Given the description of an element on the screen output the (x, y) to click on. 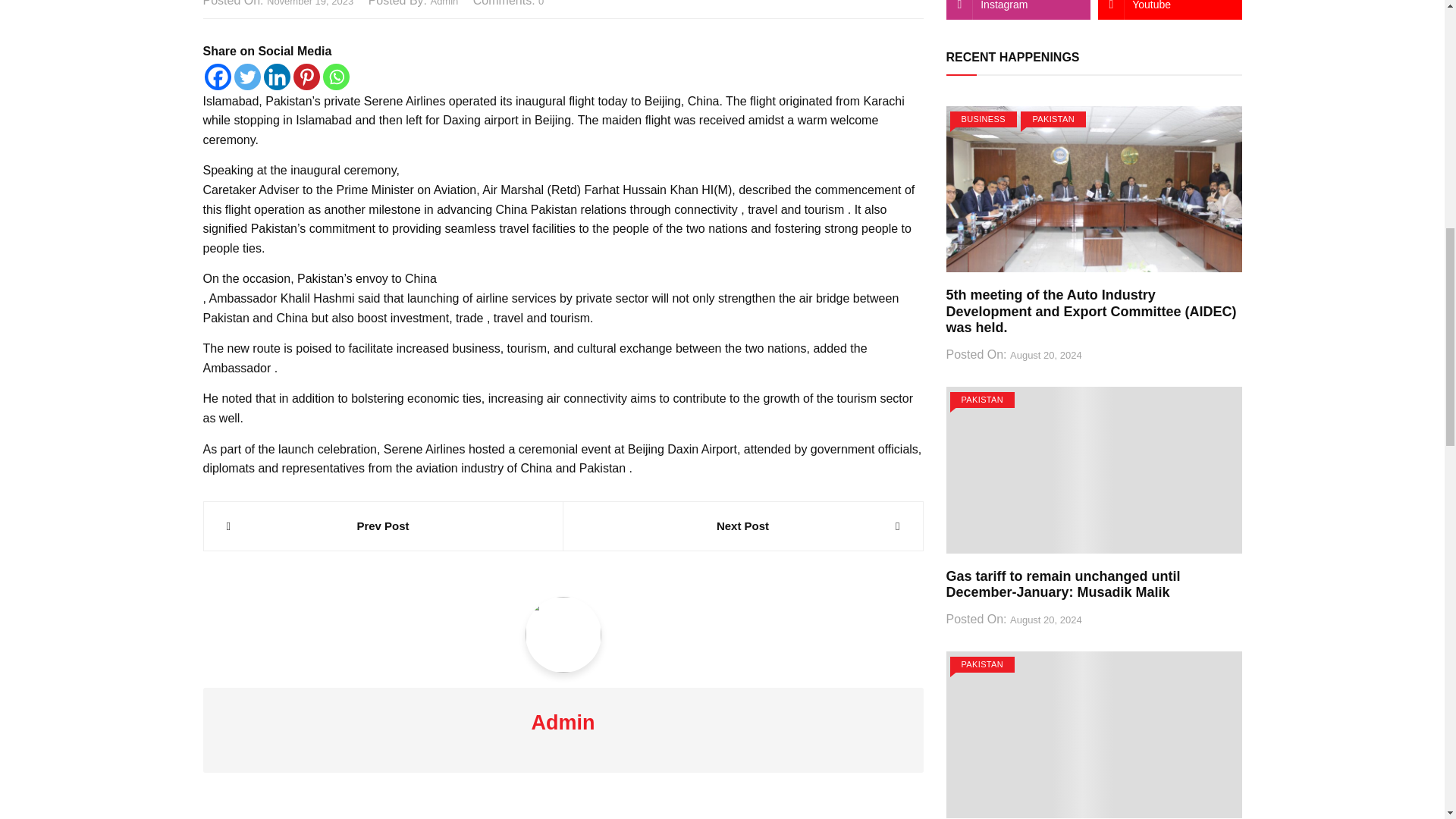
Whatsapp (336, 76)
Pinterest (305, 76)
Linkedin (276, 76)
Facebook (218, 76)
Twitter (246, 76)
